Given the description of an element on the screen output the (x, y) to click on. 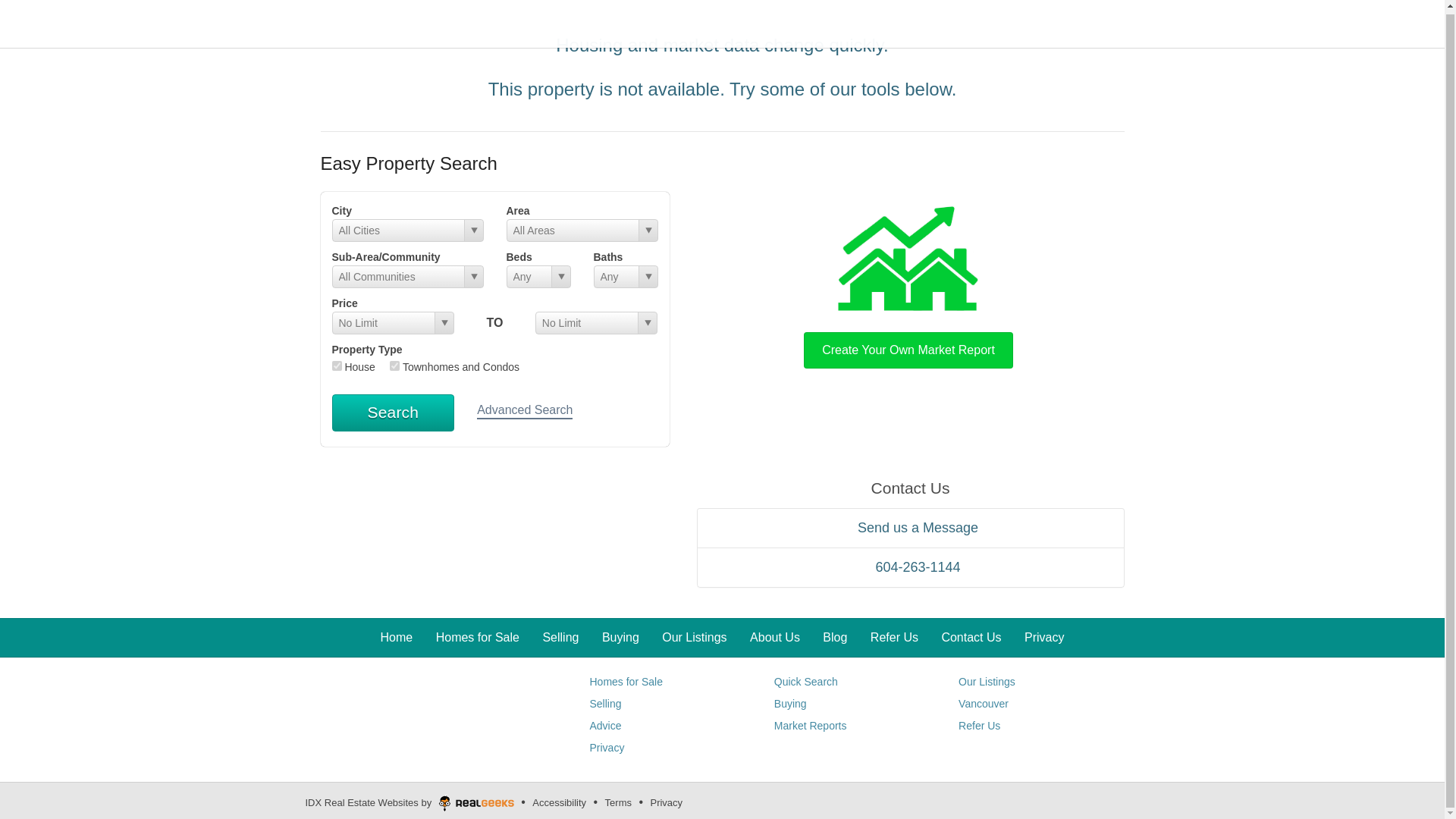
Create Your Own Market Report (908, 283)
Homes for Sale (625, 681)
Blog (834, 636)
About Us (774, 636)
res (336, 366)
con (394, 366)
Our Listings (694, 636)
Refer Us (894, 636)
Our Listings (986, 681)
Advanced Search (524, 411)
